Given the description of an element on the screen output the (x, y) to click on. 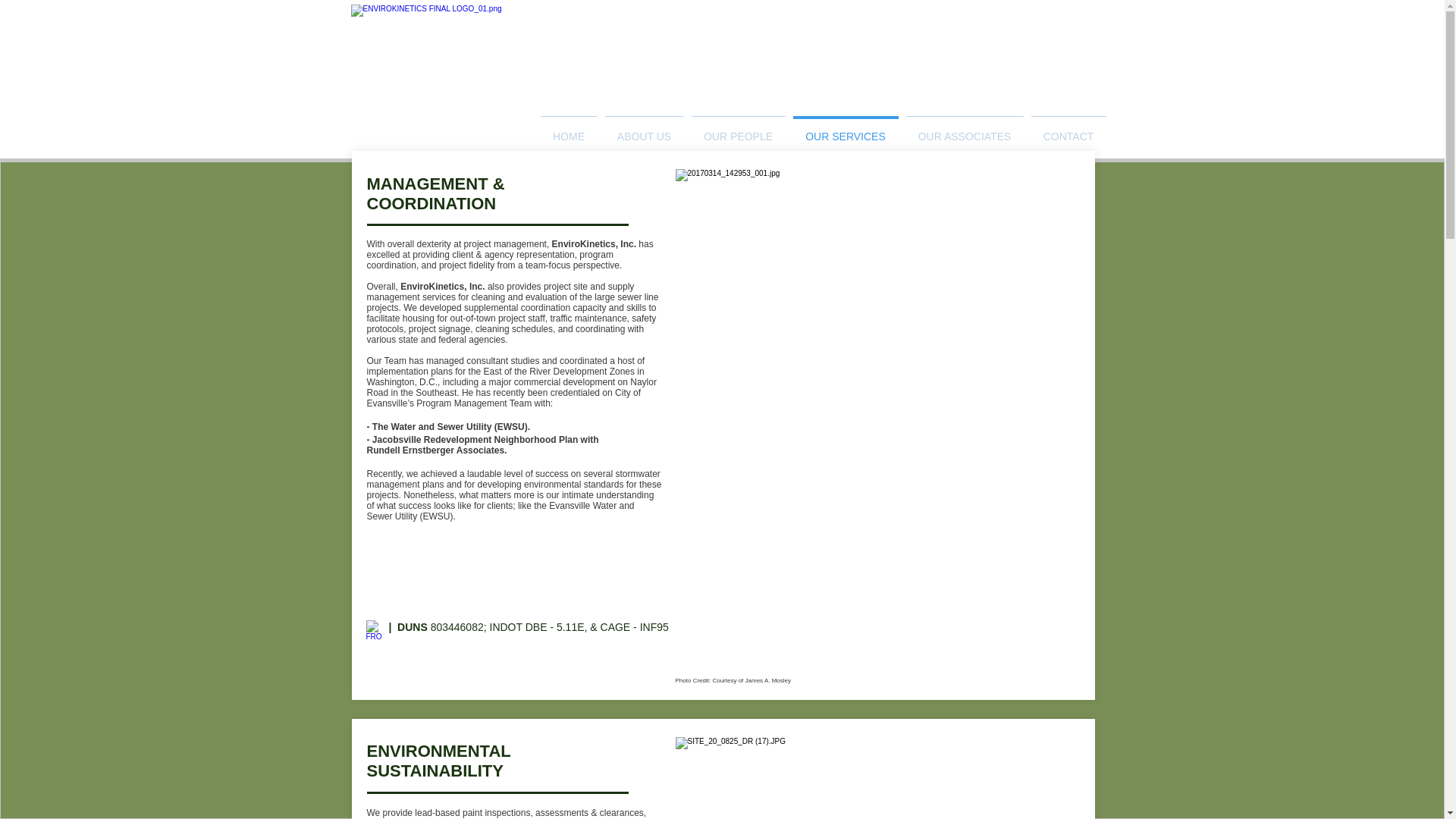
CONTACT (1067, 129)
ABOUT US (643, 129)
OUR SERVICES (845, 129)
OUR PEOPLE (738, 129)
OUR ASSOCIATES (964, 129)
HOME (569, 129)
